Given the description of an element on the screen output the (x, y) to click on. 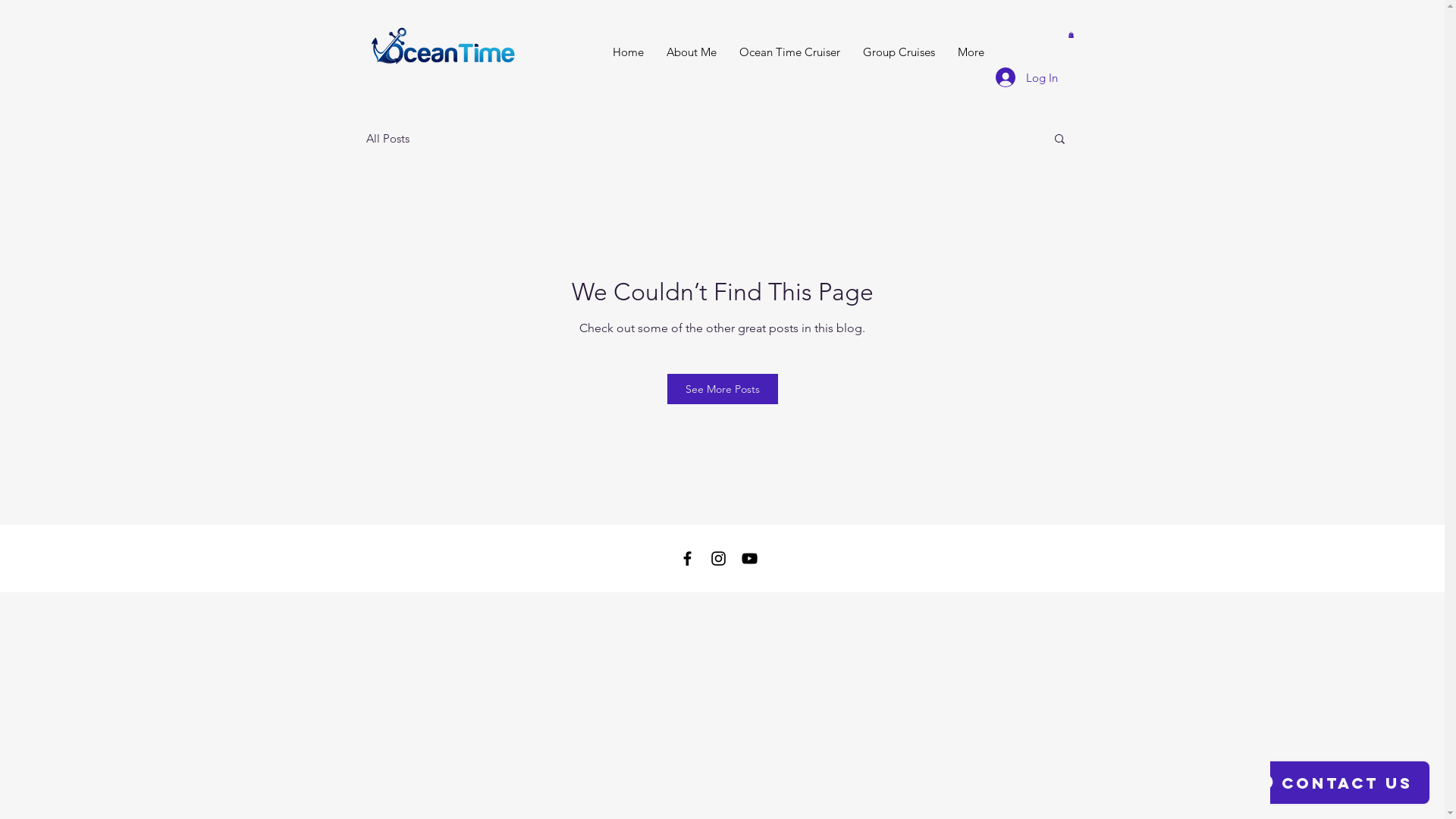
Ocean Time Cruiser Element type: text (789, 52)
Group Cruises Element type: text (897, 52)
Home Element type: text (627, 52)
0 Element type: text (1070, 34)
See More Posts Element type: text (722, 388)
Log In Element type: text (1025, 76)
About Me Element type: text (691, 52)
All Posts Element type: text (386, 137)
